Given the description of an element on the screen output the (x, y) to click on. 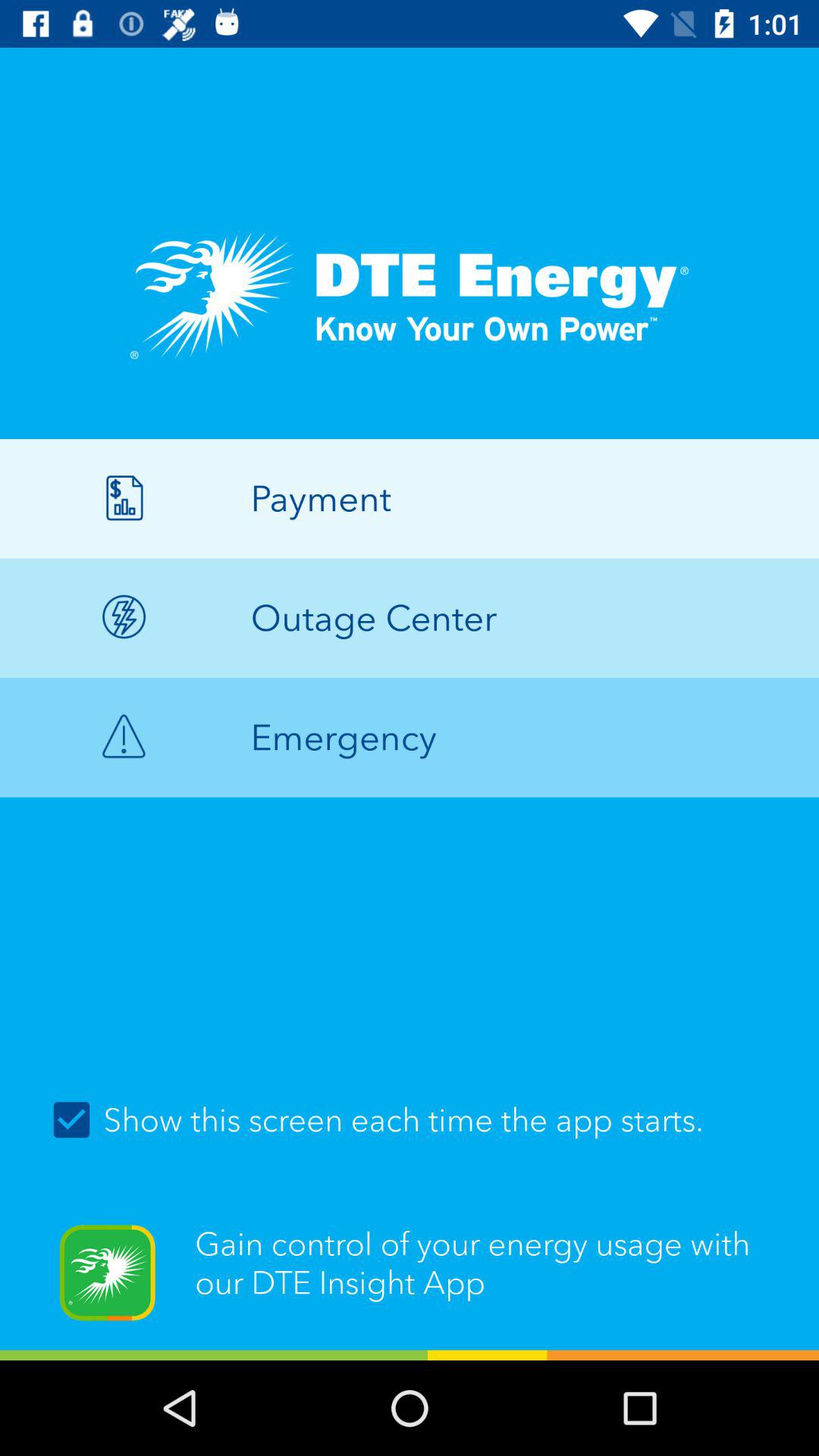
jump to show this screen icon (409, 1119)
